Given the description of an element on the screen output the (x, y) to click on. 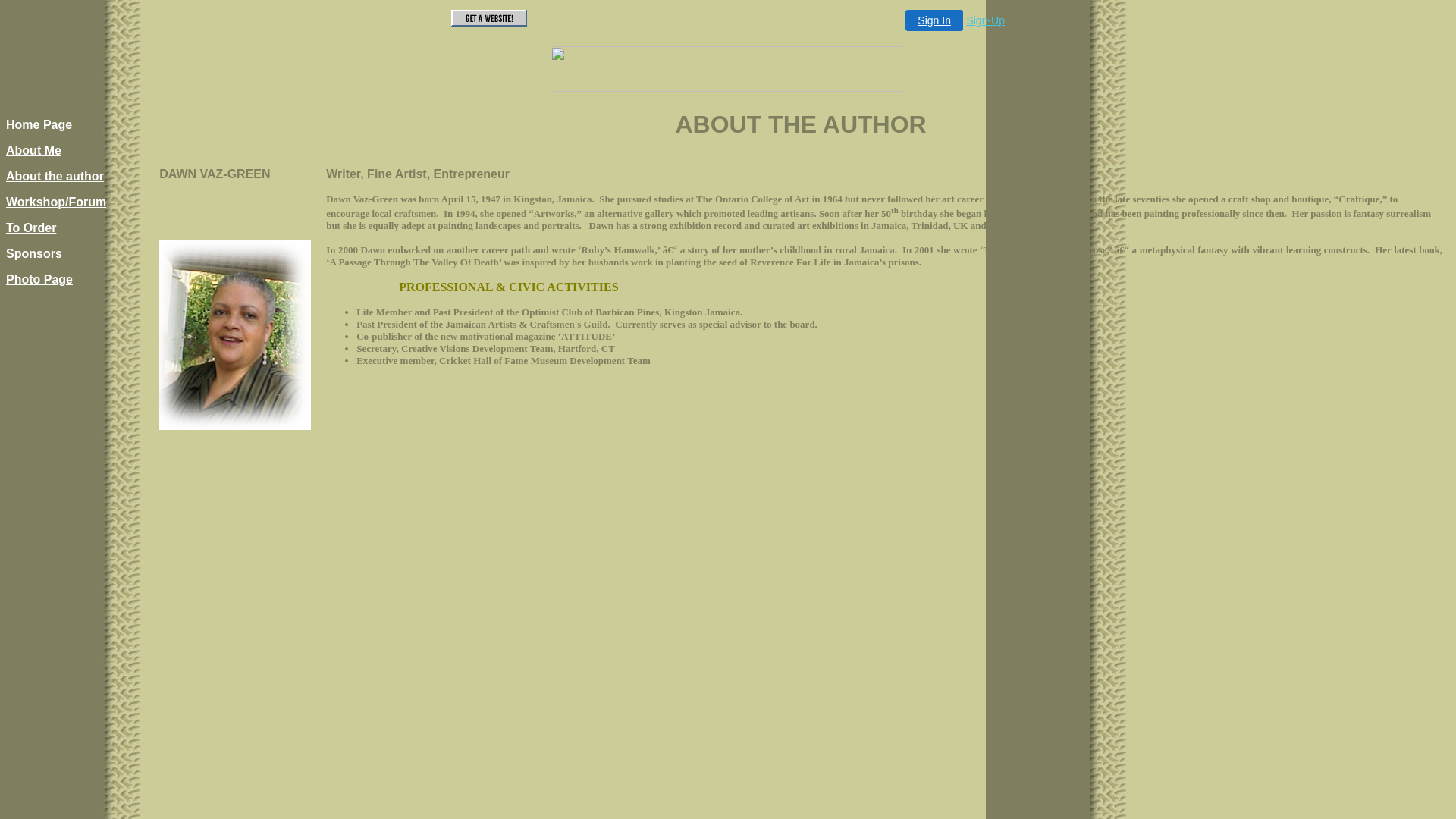
Workshop/Forum Element type: text (56, 201)
Sponsors Element type: text (34, 253)
Sign-Up Element type: text (985, 20)
Home Page Element type: text (39, 124)
Sign In Element type: text (934, 20)
Photo Page Element type: text (39, 279)
About Me Element type: text (33, 150)
To Order Element type: text (31, 227)
About the author Element type: text (54, 175)
